Given the description of an element on the screen output the (x, y) to click on. 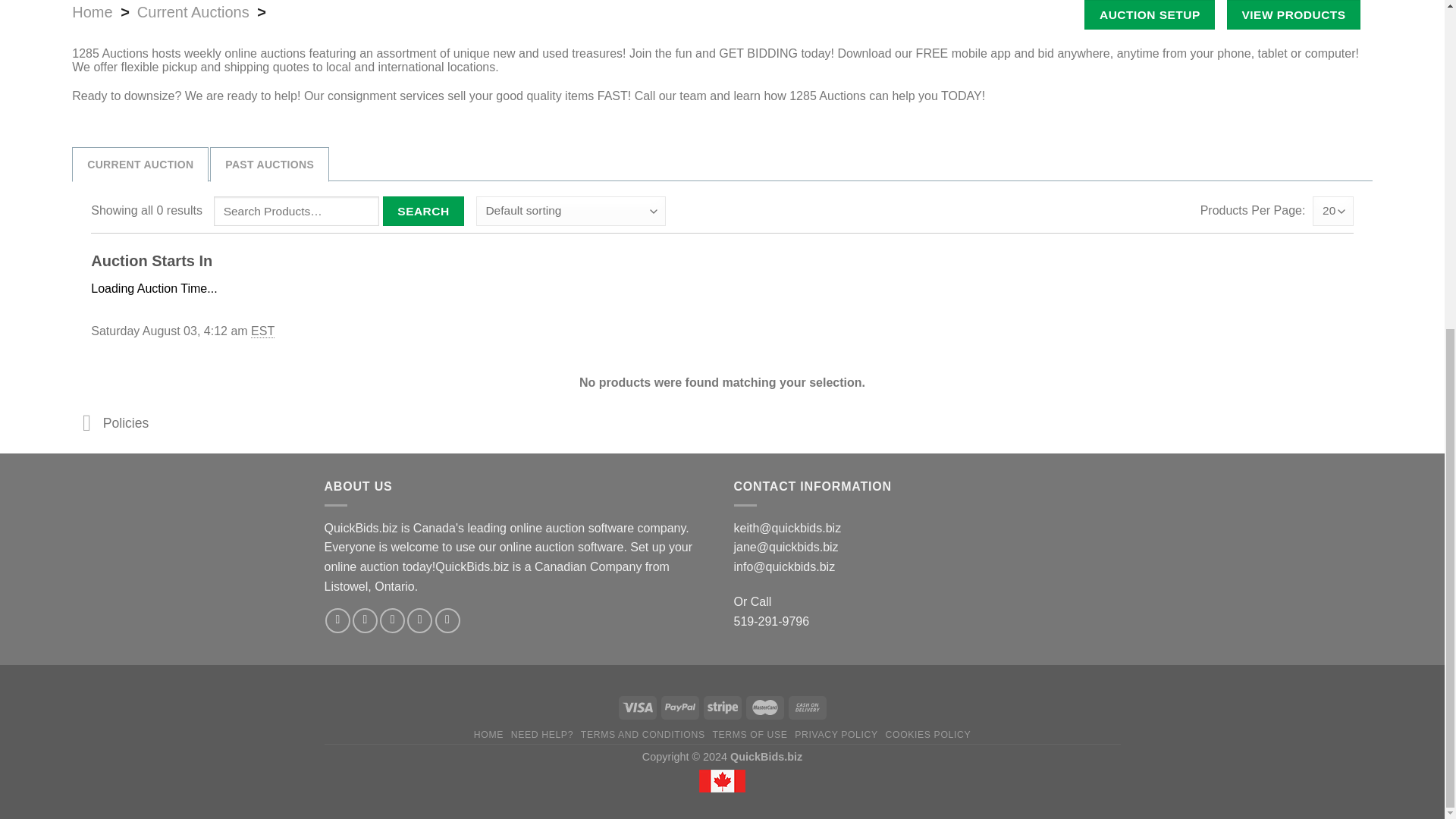
Search (423, 211)
Eastern Standard Time (262, 331)
Follow on Facebook (337, 620)
Search for: (296, 211)
